Given the description of an element on the screen output the (x, y) to click on. 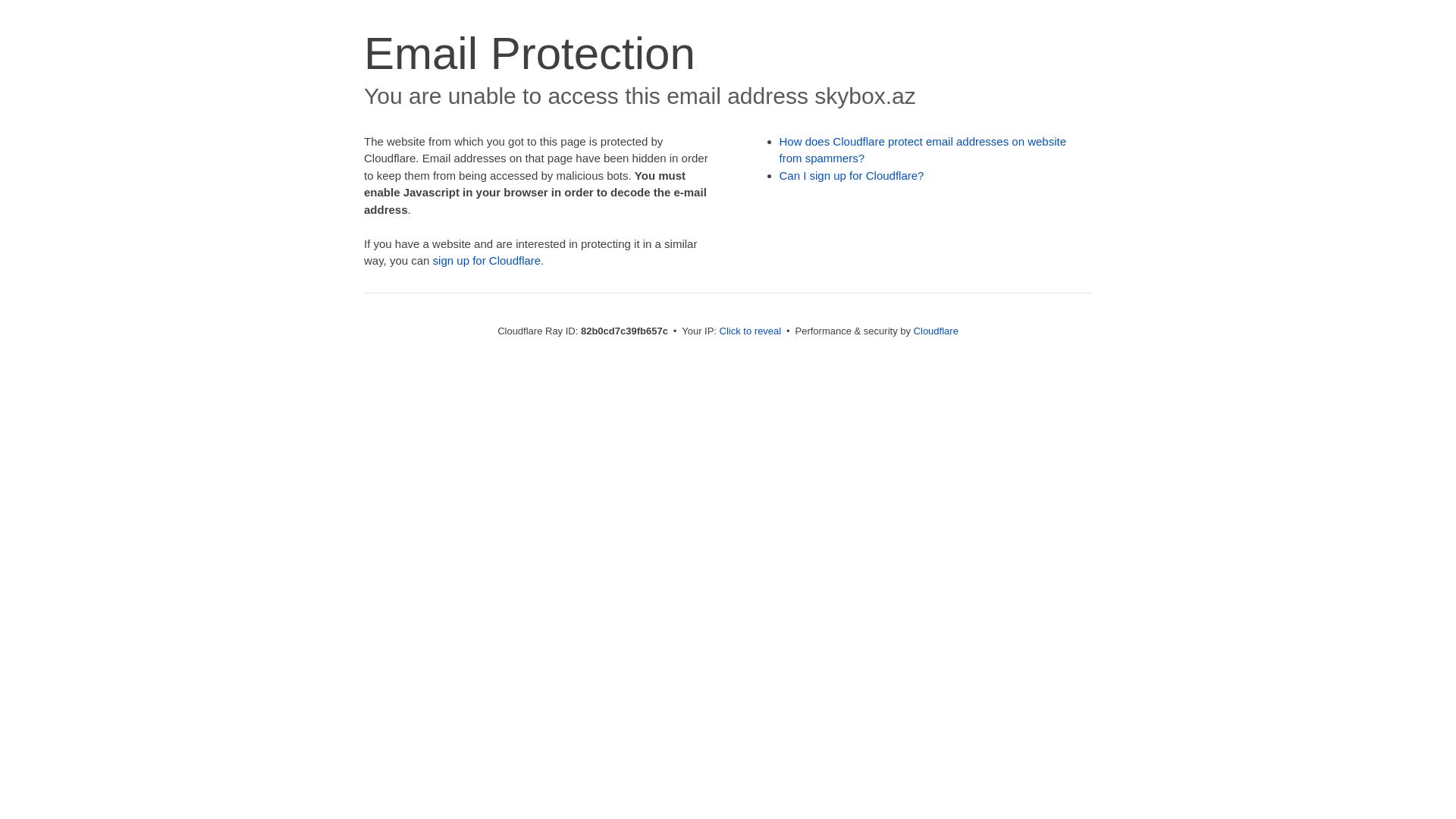
Cloudflare Element type: text (935, 330)
Click to reveal Element type: text (750, 330)
Can I sign up for Cloudflare? Element type: text (851, 175)
sign up for Cloudflare Element type: text (487, 260)
